Given the description of an element on the screen output the (x, y) to click on. 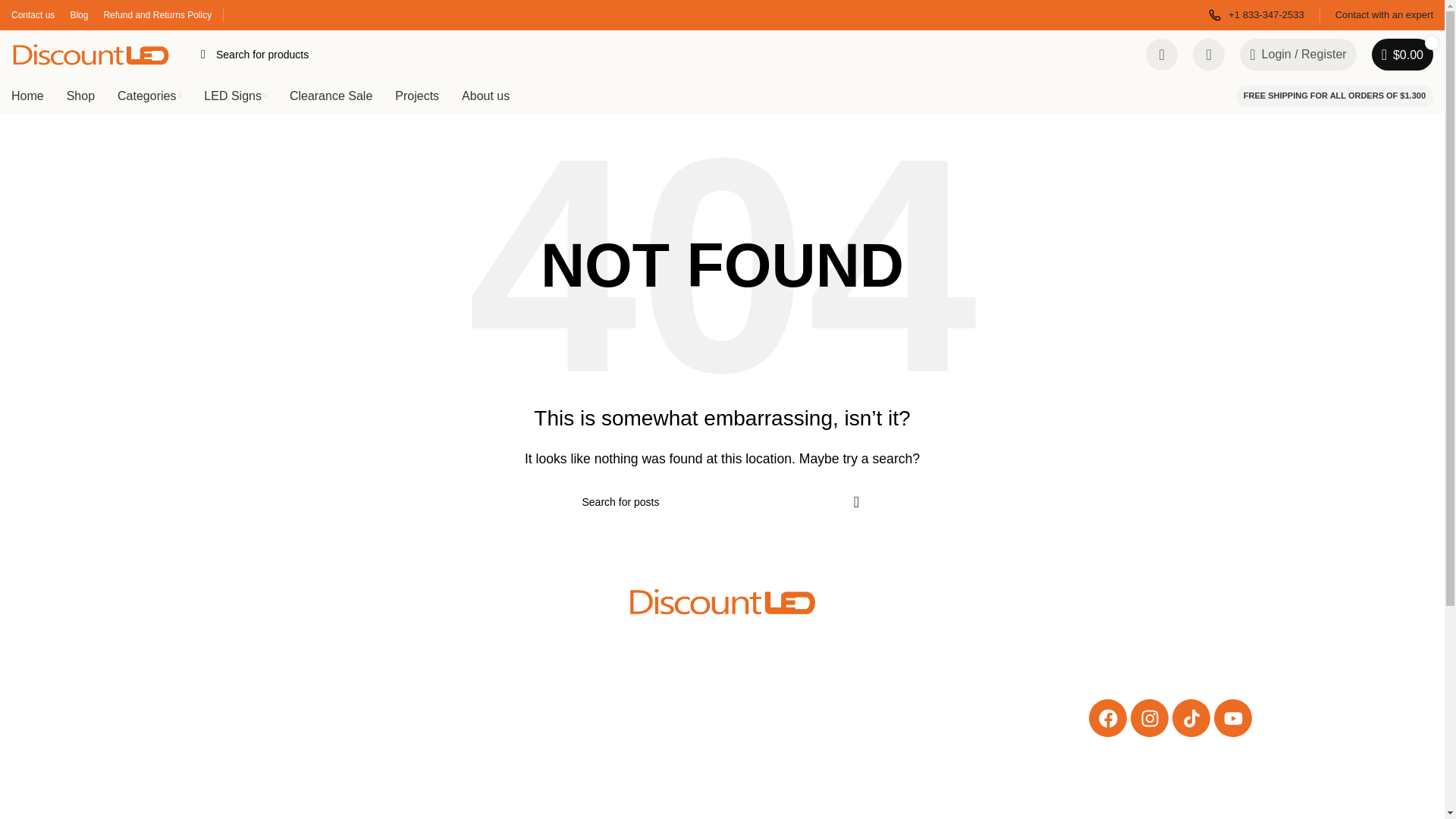
SEARCH (203, 54)
Contact us (33, 15)
Compare products (1161, 54)
Refund and Returns Policy (157, 15)
Search for products (658, 54)
Search for posts (721, 501)
LED Signs (234, 95)
Shopping cart (1402, 54)
My account (1296, 54)
Categories (148, 95)
Shop (80, 95)
My Wishlist (1208, 54)
Blog (78, 15)
Home (27, 95)
